Given the description of an element on the screen output the (x, y) to click on. 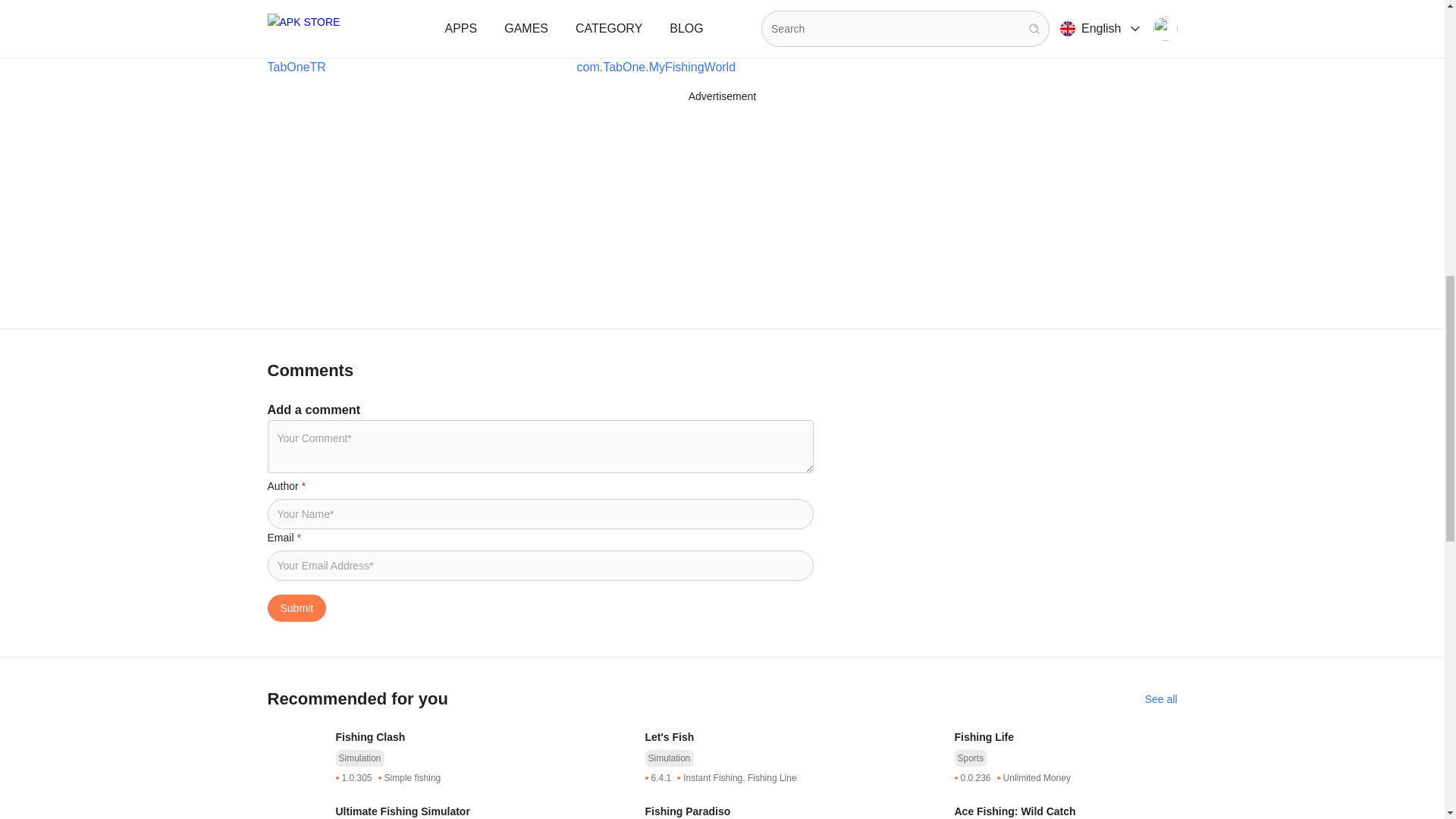
Similar app (1160, 699)
Simulation (669, 758)
Fishing Clash (445, 736)
TabOneTR (295, 66)
Simulation (359, 758)
Sports (970, 758)
Submit (296, 607)
Let's Fish (756, 736)
Ultimate Fishing Simulator (445, 811)
Fishing Life (1064, 736)
